Given the description of an element on the screen output the (x, y) to click on. 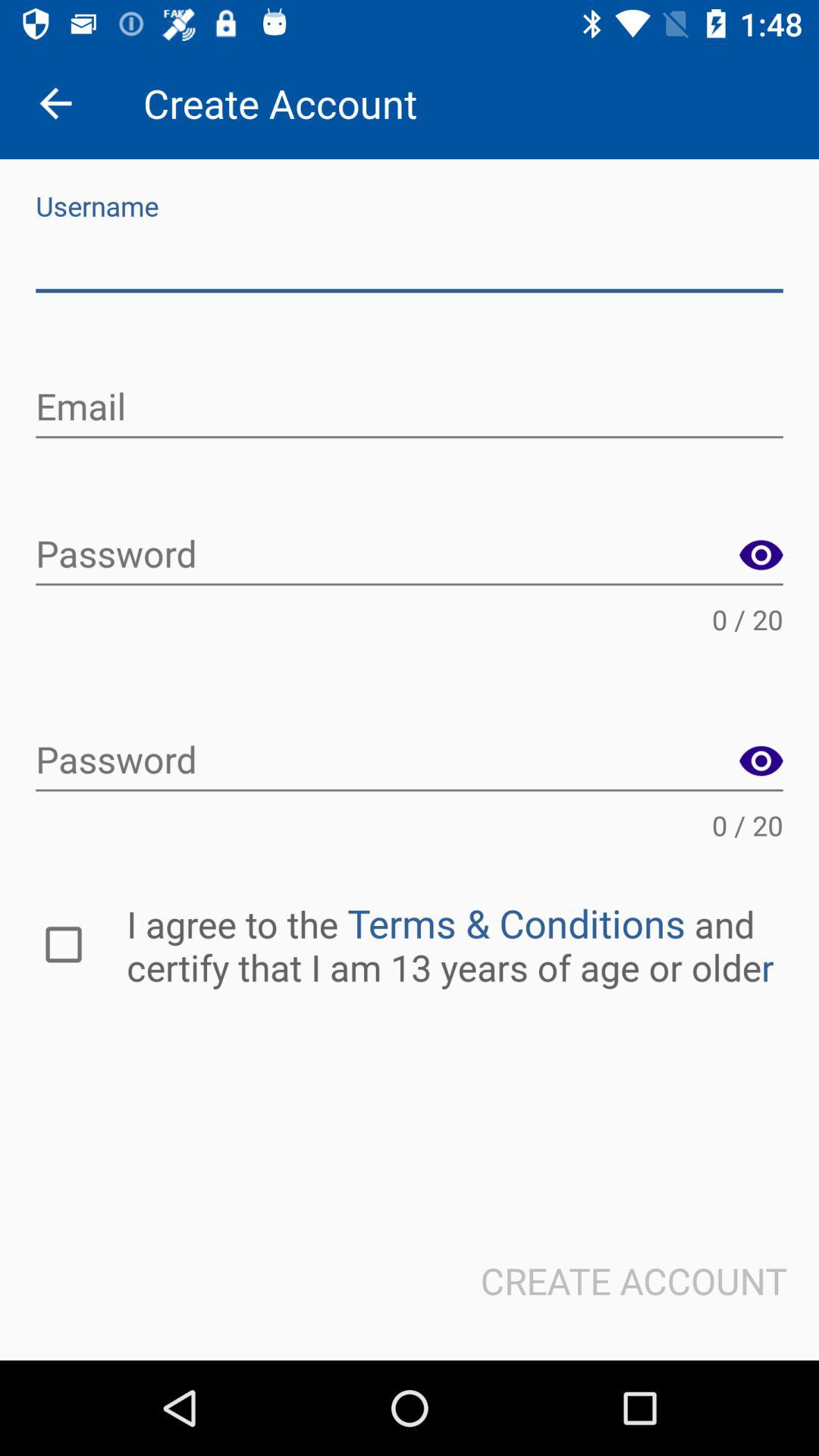
make password visible (761, 555)
